Given the description of an element on the screen output the (x, y) to click on. 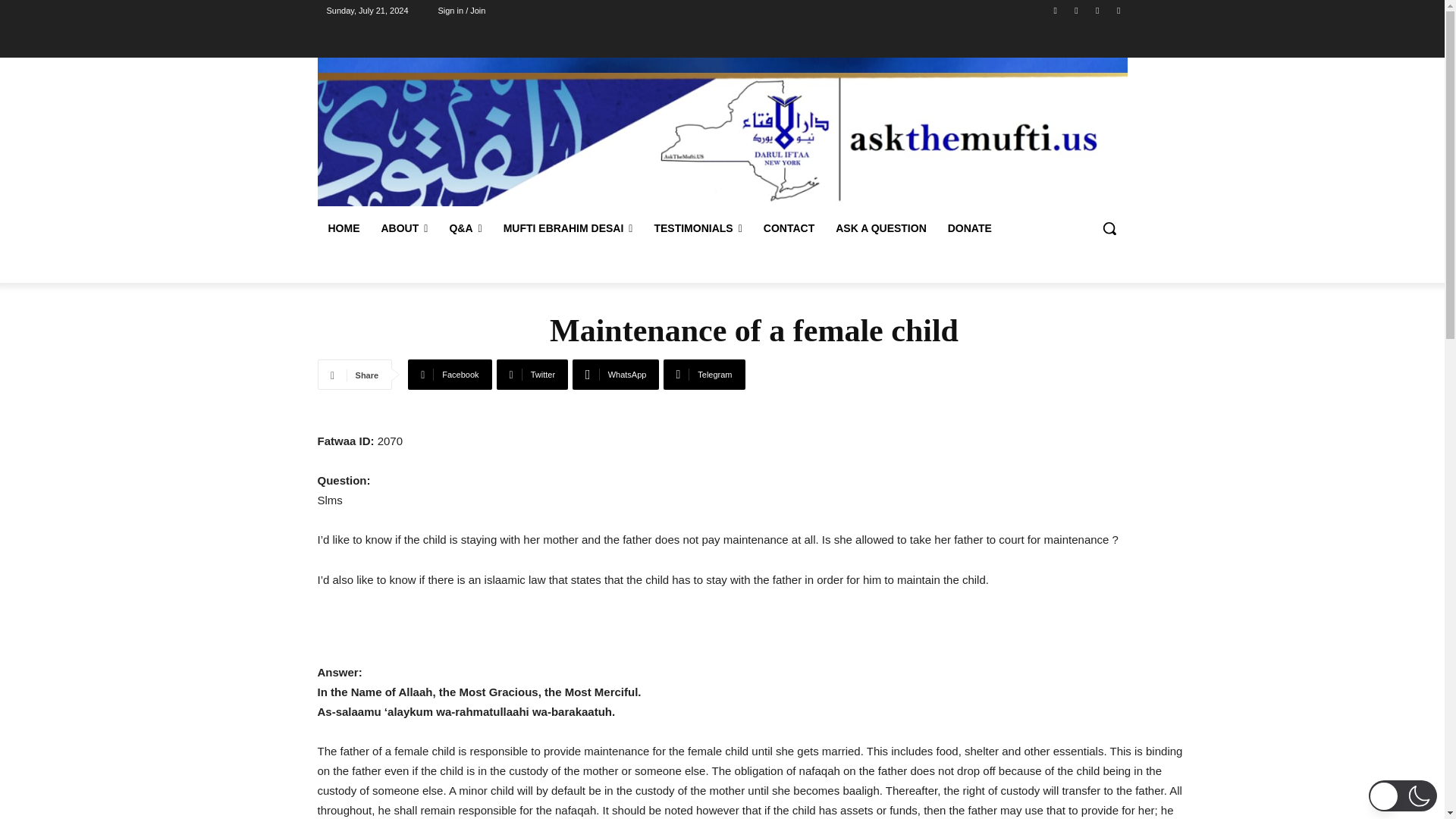
WhatsApp (615, 374)
Twitter (532, 374)
Twitter (1117, 9)
Instagram (1075, 9)
Mail (1097, 9)
Facebook (449, 374)
Facebook (1055, 9)
Telegram (703, 374)
